Given the description of an element on the screen output the (x, y) to click on. 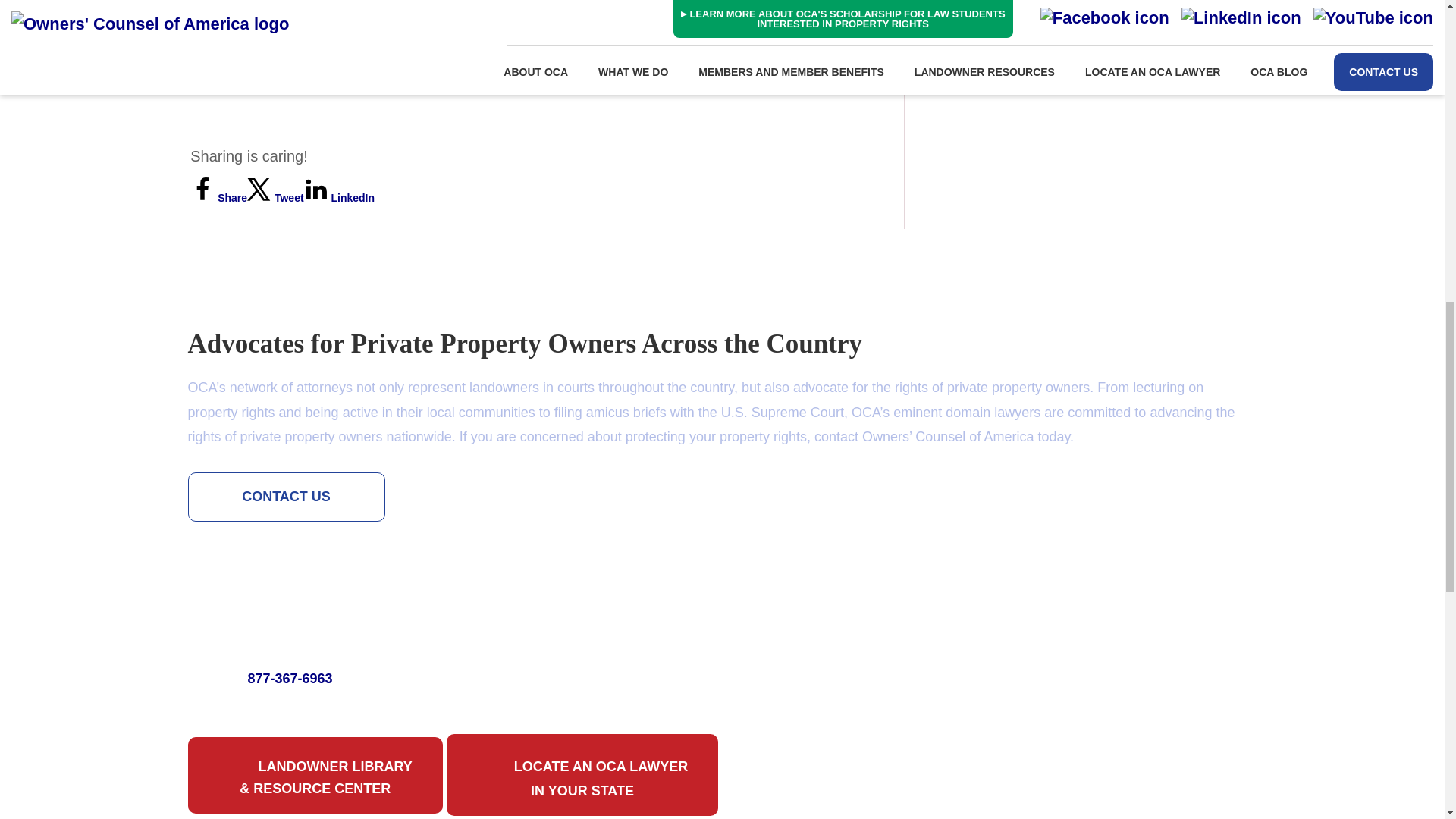
Share on X (275, 197)
Share on LinkedIn (339, 197)
Share on Facebook (218, 197)
